Given the description of an element on the screen output the (x, y) to click on. 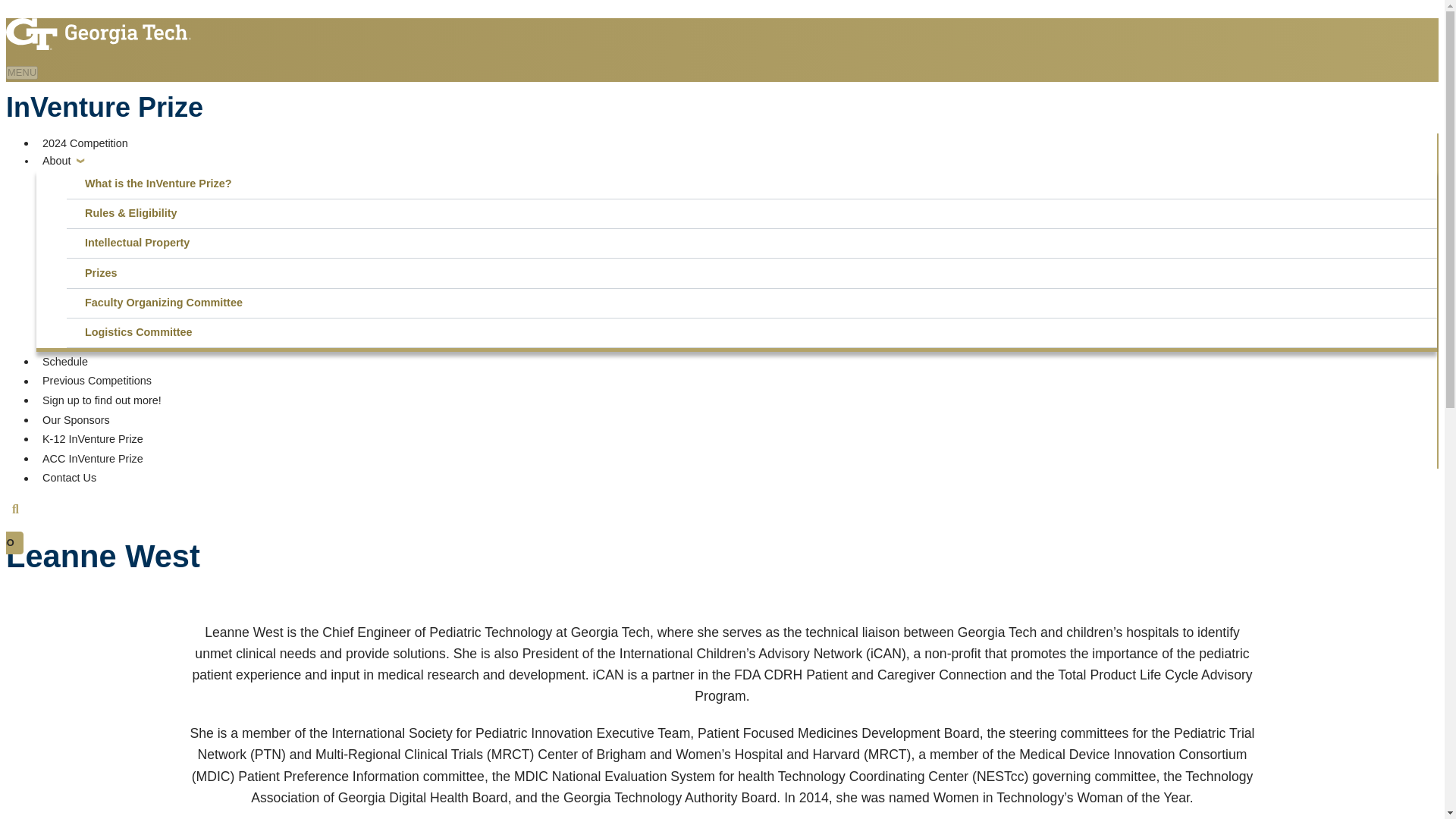
ACC InVenture Prize (92, 458)
What is the InVenture Prize? (754, 184)
GO (11, 543)
Previous Competitions (96, 380)
GO (11, 543)
Intellectual Property (754, 243)
Our Sponsors (76, 419)
Faculty Organizing Committee (754, 303)
Sign up to find out more! (101, 400)
InVenture Prize (104, 107)
Schedule (65, 361)
2024 Competition (84, 143)
Georgia Institute of Technology (97, 27)
InVenture Prize (104, 107)
